Given the description of an element on the screen output the (x, y) to click on. 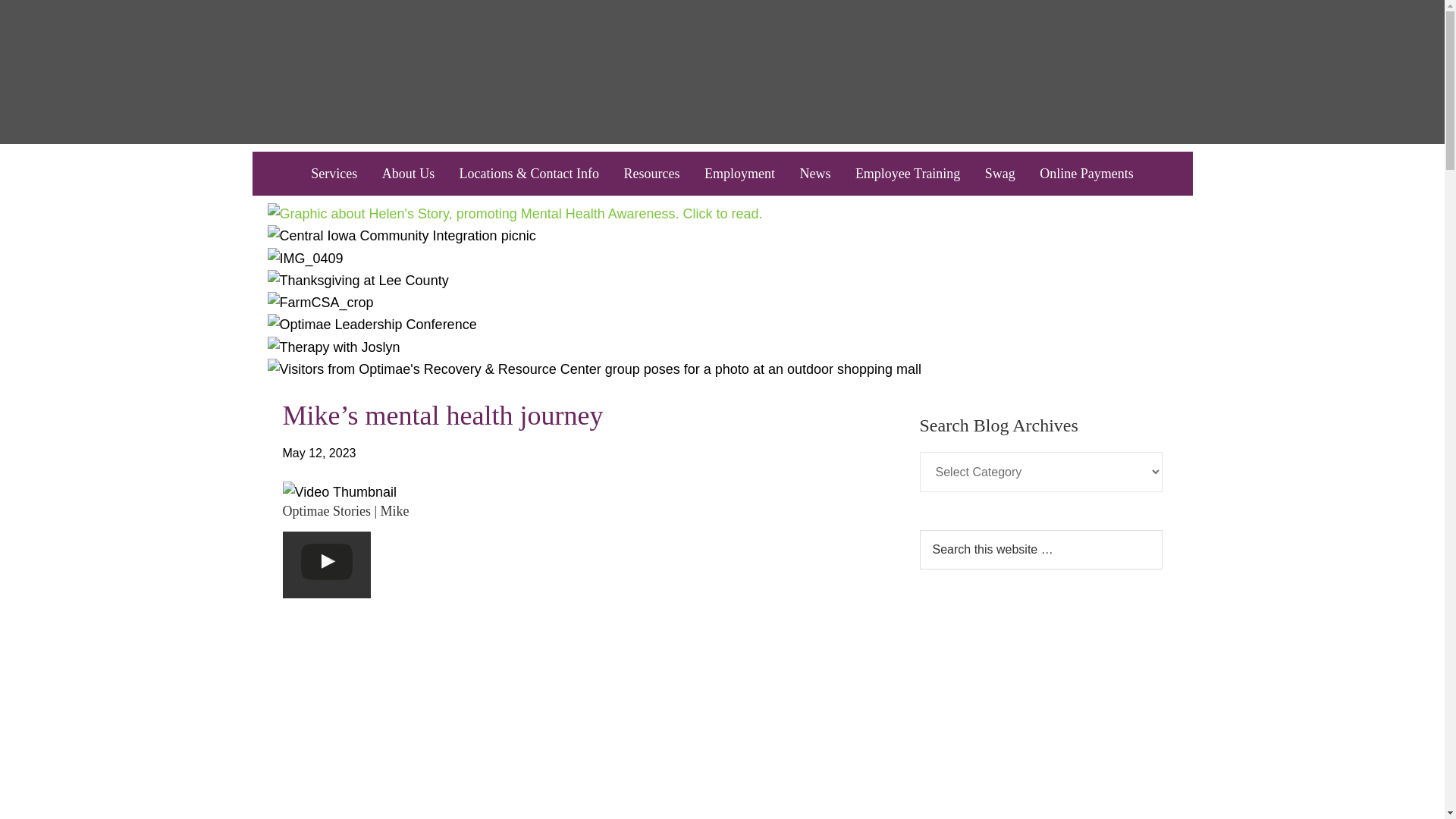
News (815, 173)
Online Payments (1086, 173)
Employee Training (907, 173)
Optimae LifeServices (721, 71)
Swag (1000, 173)
About Us (408, 173)
Employment (740, 173)
Services (333, 173)
Resources (651, 173)
